Given the description of an element on the screen output the (x, y) to click on. 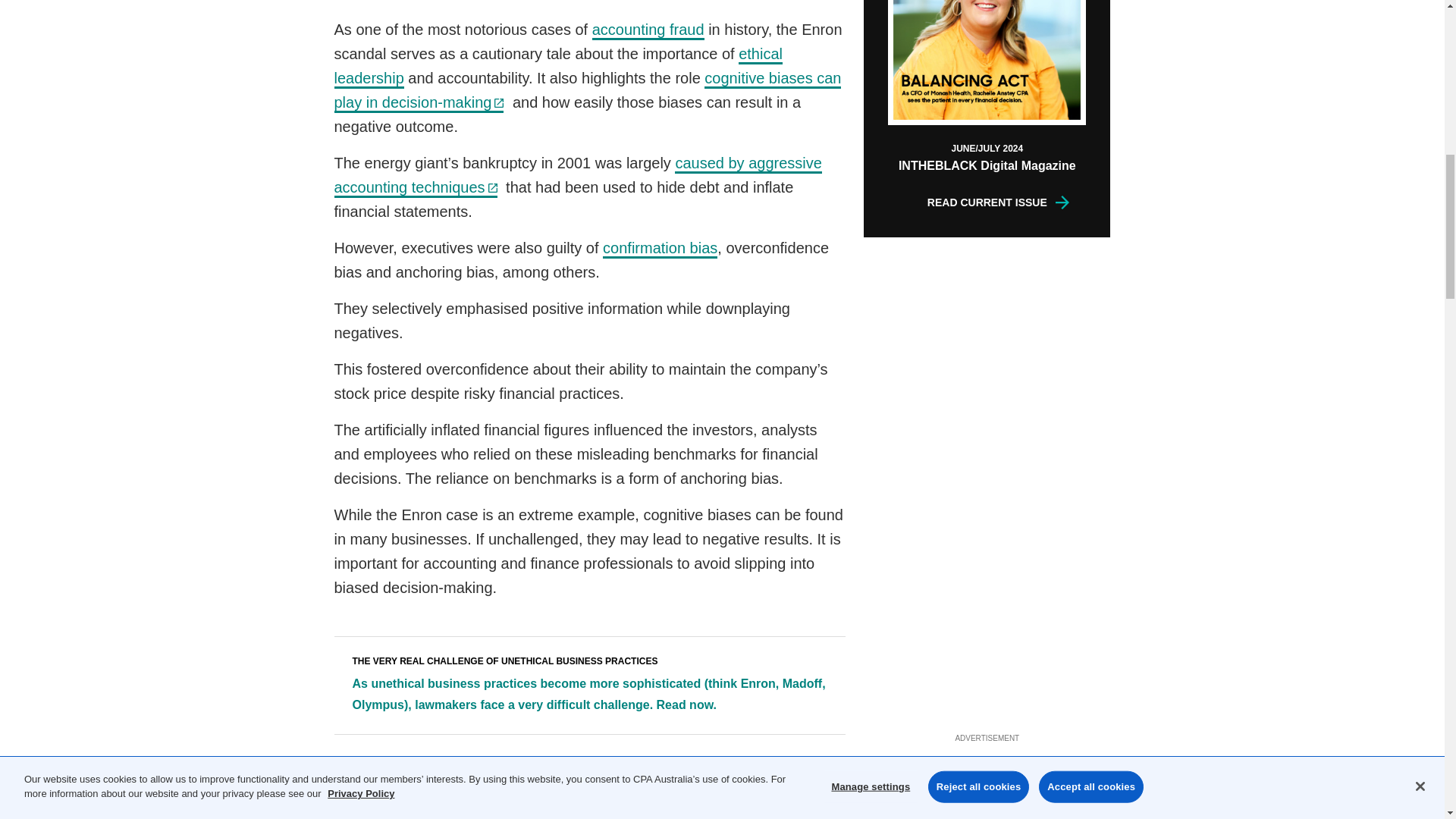
ethical leadership (557, 66)
cognitive biases can play in decision-making (587, 91)
accounting fraud (648, 30)
